Given the description of an element on the screen output the (x, y) to click on. 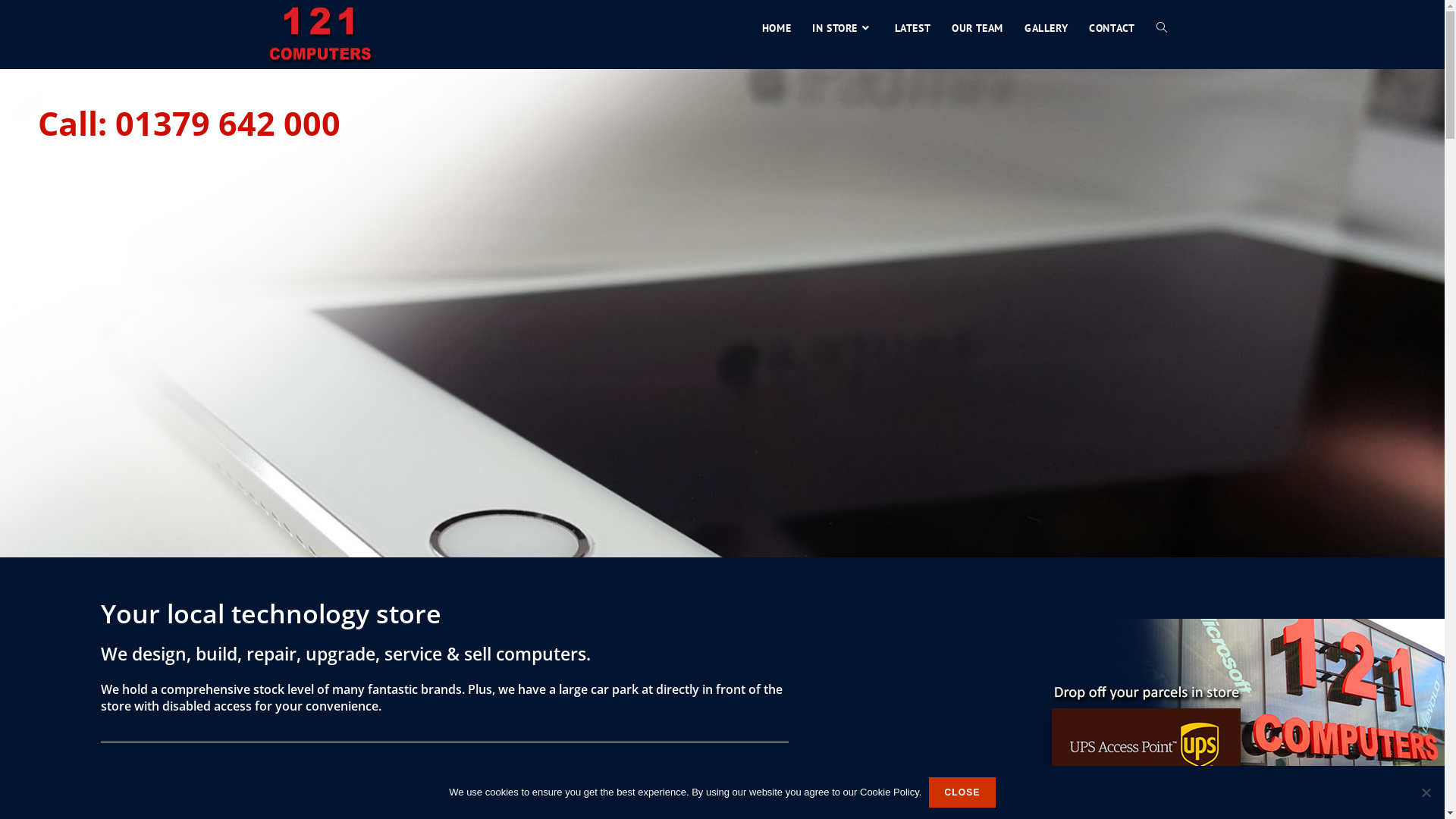
CONTACT Element type: text (1111, 27)
No Element type: hover (1425, 792)
HOME Element type: text (776, 27)
CLOSE Element type: text (961, 792)
OUR TEAM Element type: text (977, 27)
IN STORE Element type: text (842, 27)
GALLERY Element type: text (1045, 27)
LATEST Element type: text (912, 27)
